Given the description of an element on the screen output the (x, y) to click on. 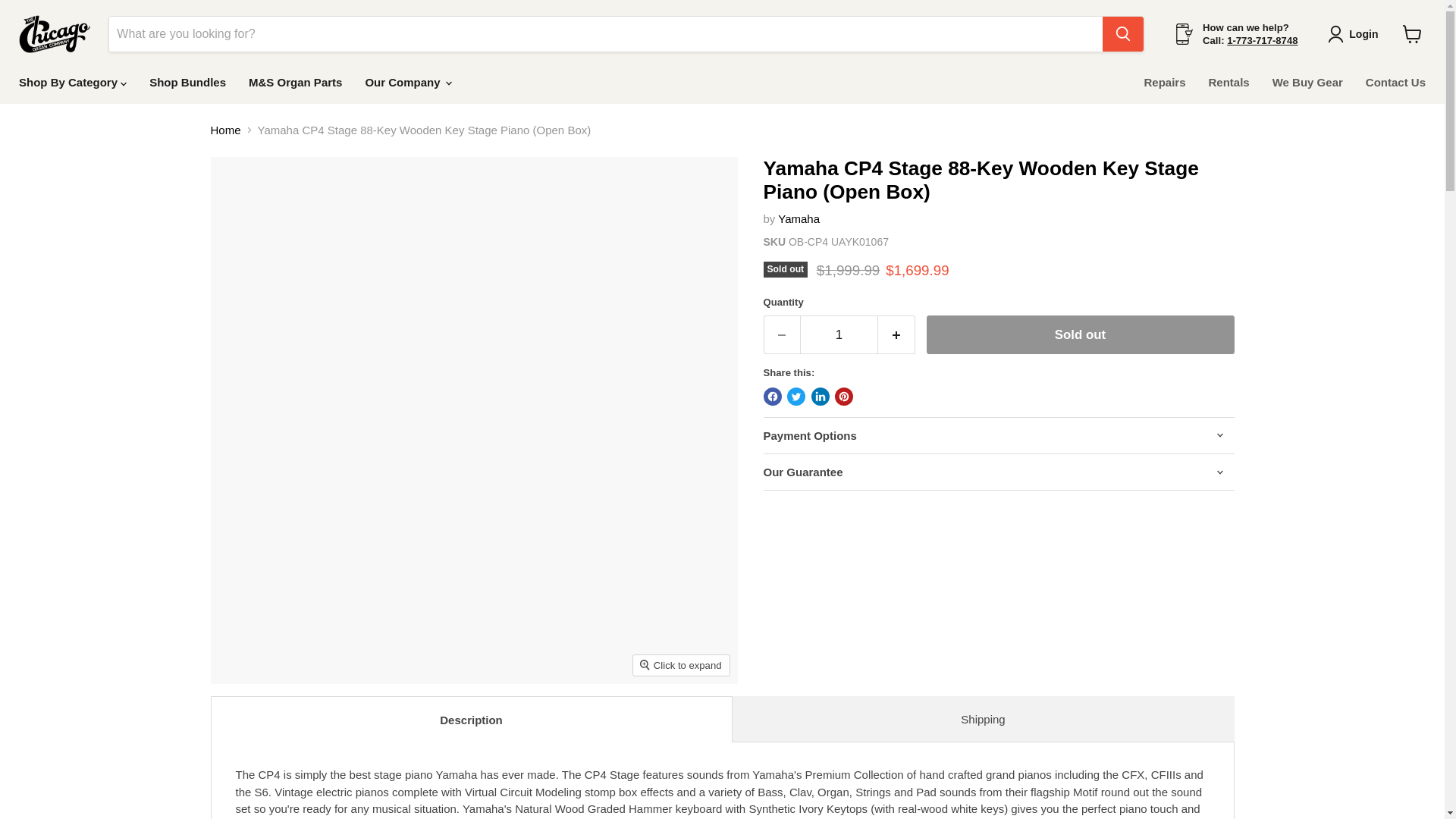
Login (1355, 34)
View cart (1411, 33)
1-773-717-8748 (1262, 40)
Shop Bundles (187, 81)
tel:1-773-717-8748 (1262, 40)
1 (838, 334)
Yamaha (798, 218)
